Given the description of an element on the screen output the (x, y) to click on. 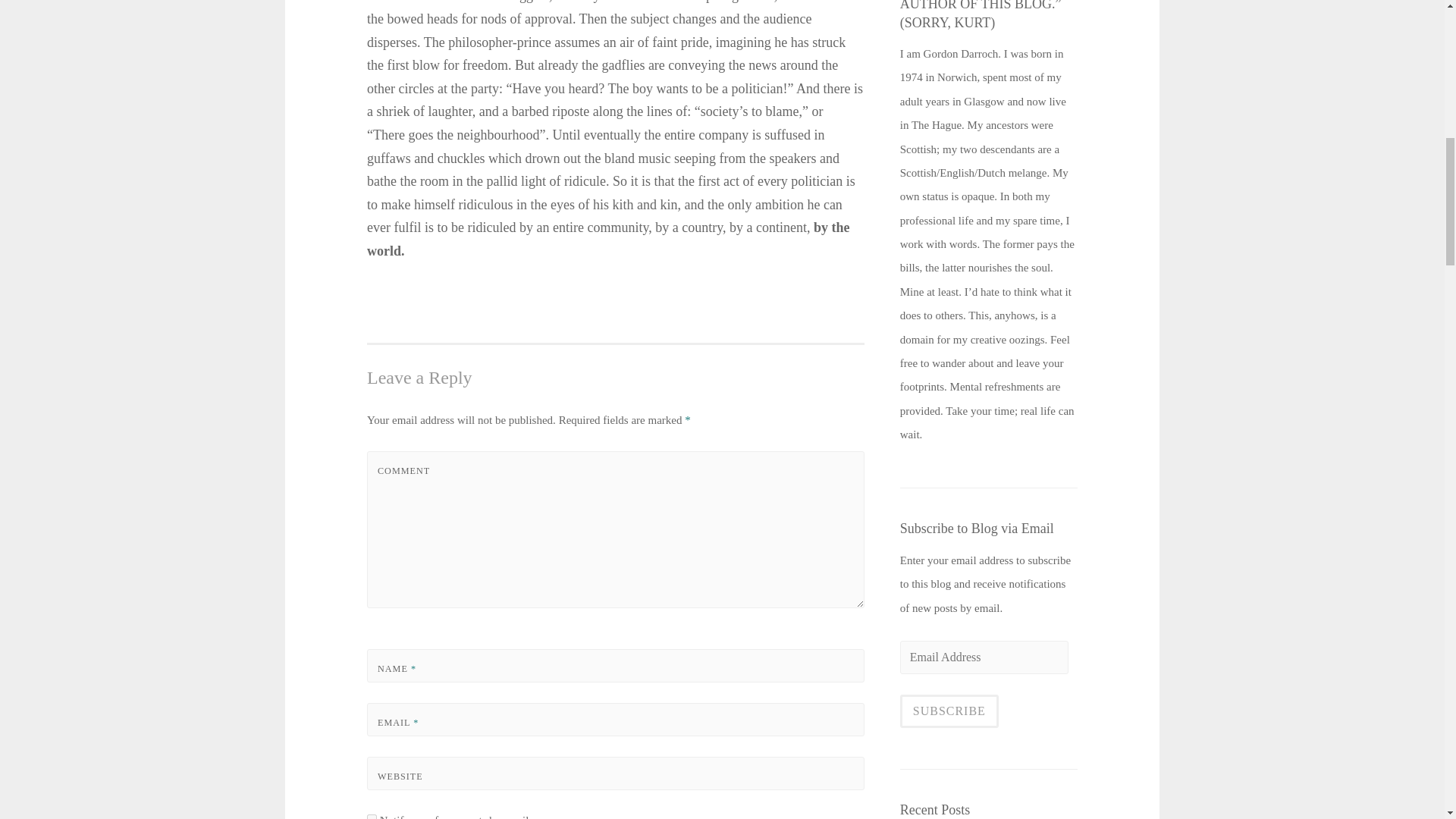
Subscribe (948, 711)
subscribe (371, 816)
Subscribe (948, 711)
